Given the description of an element on the screen output the (x, y) to click on. 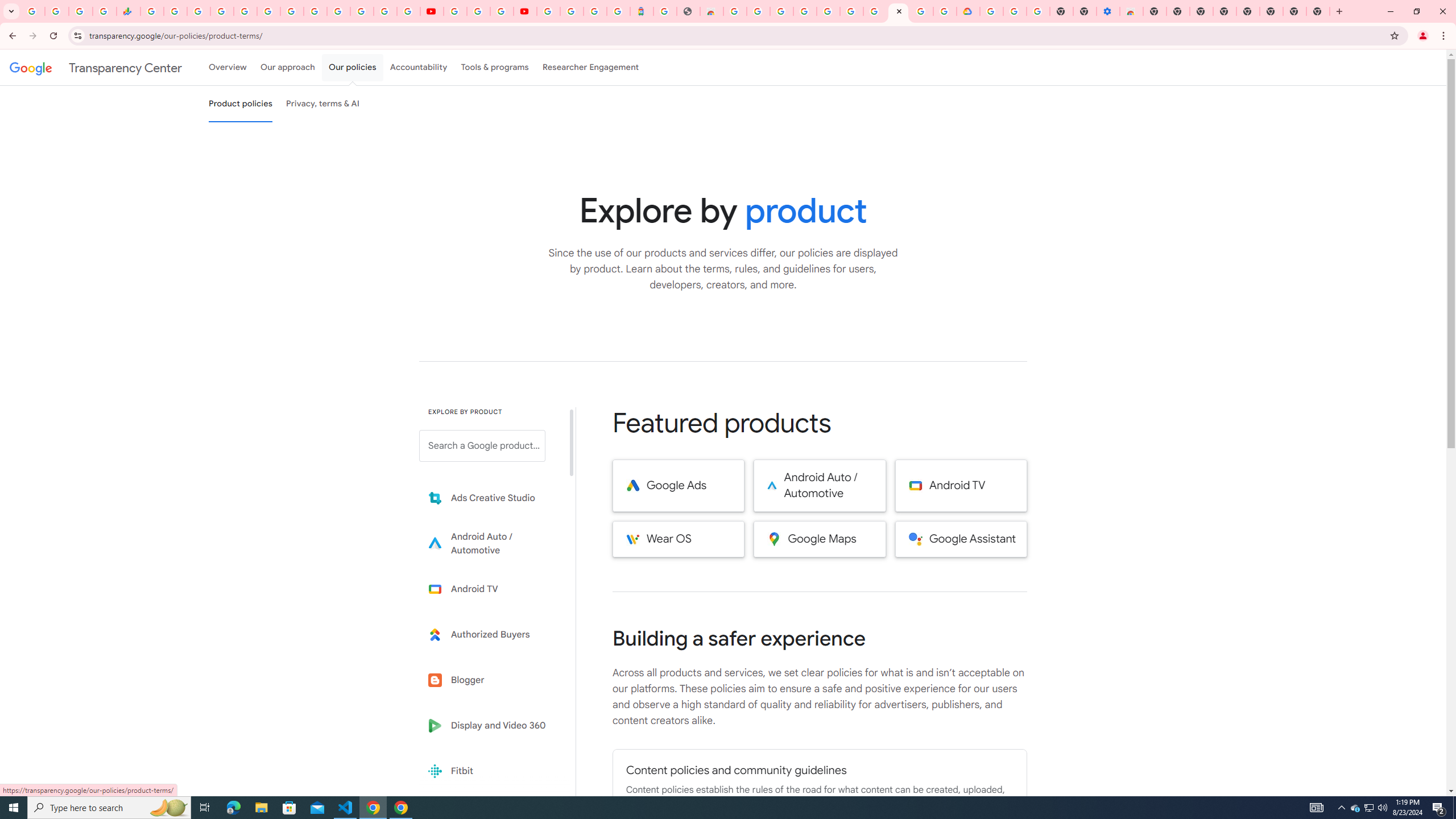
Sign in - Google Accounts (992, 11)
Sign in - Google Accounts (338, 11)
Sign in - Google Accounts (547, 11)
Android TV (960, 485)
Display and Video 360 (490, 725)
Google Account Help (874, 11)
Create your Google Account (757, 11)
Sign in - Google Accounts (827, 11)
Privacy, terms & AI (322, 103)
Android Auto / Automotive (820, 485)
